Given the description of an element on the screen output the (x, y) to click on. 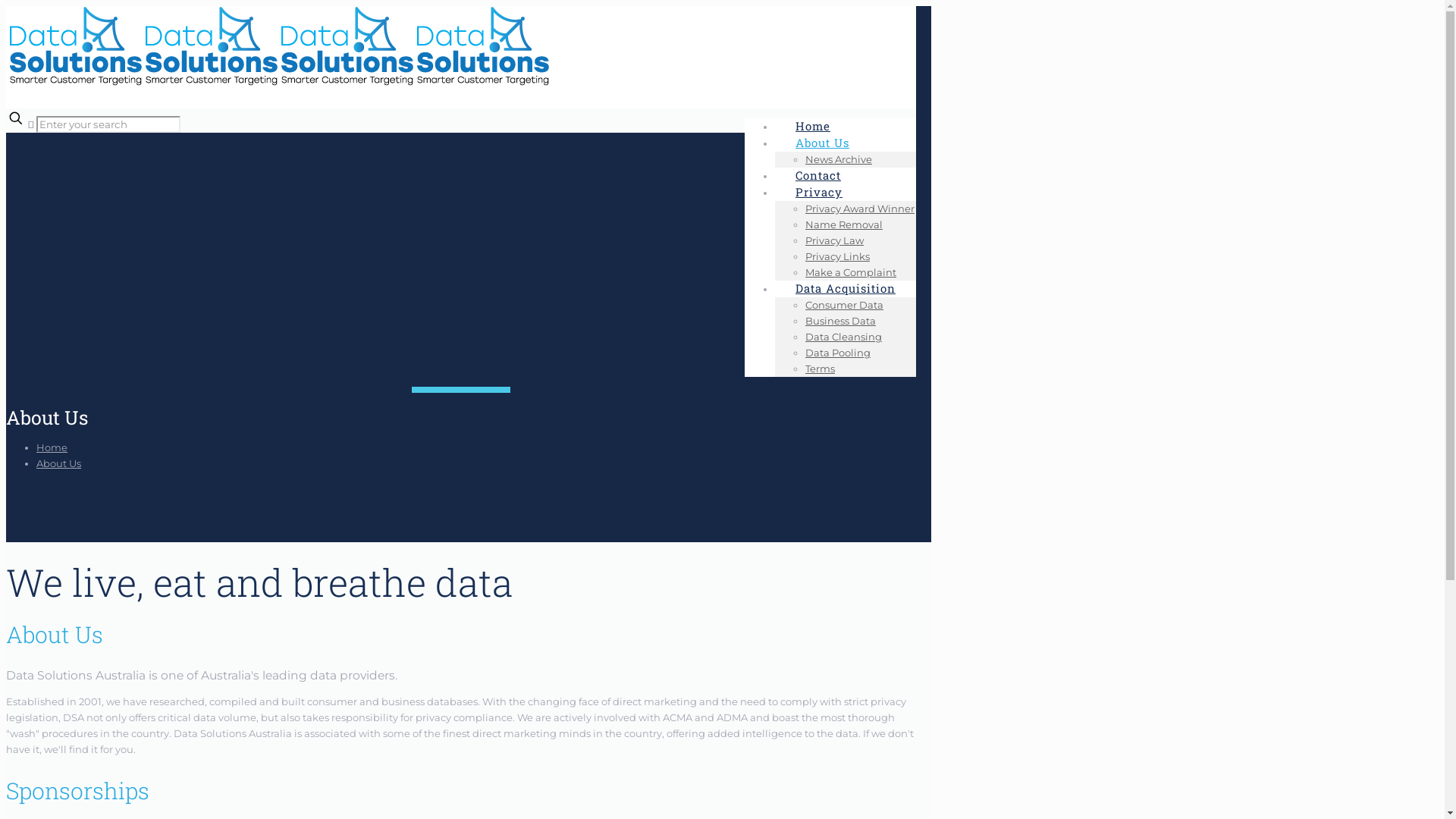
Home Element type: text (812, 125)
Data Cleansing Element type: text (843, 336)
Data Solutions - Email, SMS, Telemarketing Lists Element type: hover (277, 81)
Data Acquisition Element type: text (845, 287)
Privacy Element type: text (818, 191)
Consumer Data Element type: text (844, 304)
Terms Element type: text (819, 368)
Privacy Links Element type: text (837, 256)
Privacy Law Element type: text (834, 240)
Data Pooling Element type: text (837, 352)
News Archive Element type: text (838, 159)
Privacy Award Winner Element type: text (859, 208)
Contact Element type: text (818, 174)
Name Removal Element type: text (843, 224)
About Us Element type: text (58, 463)
Home Element type: text (51, 447)
Make a Complaint Element type: text (850, 272)
Business Data Element type: text (840, 320)
About Us Element type: text (822, 142)
